Given the description of an element on the screen output the (x, y) to click on. 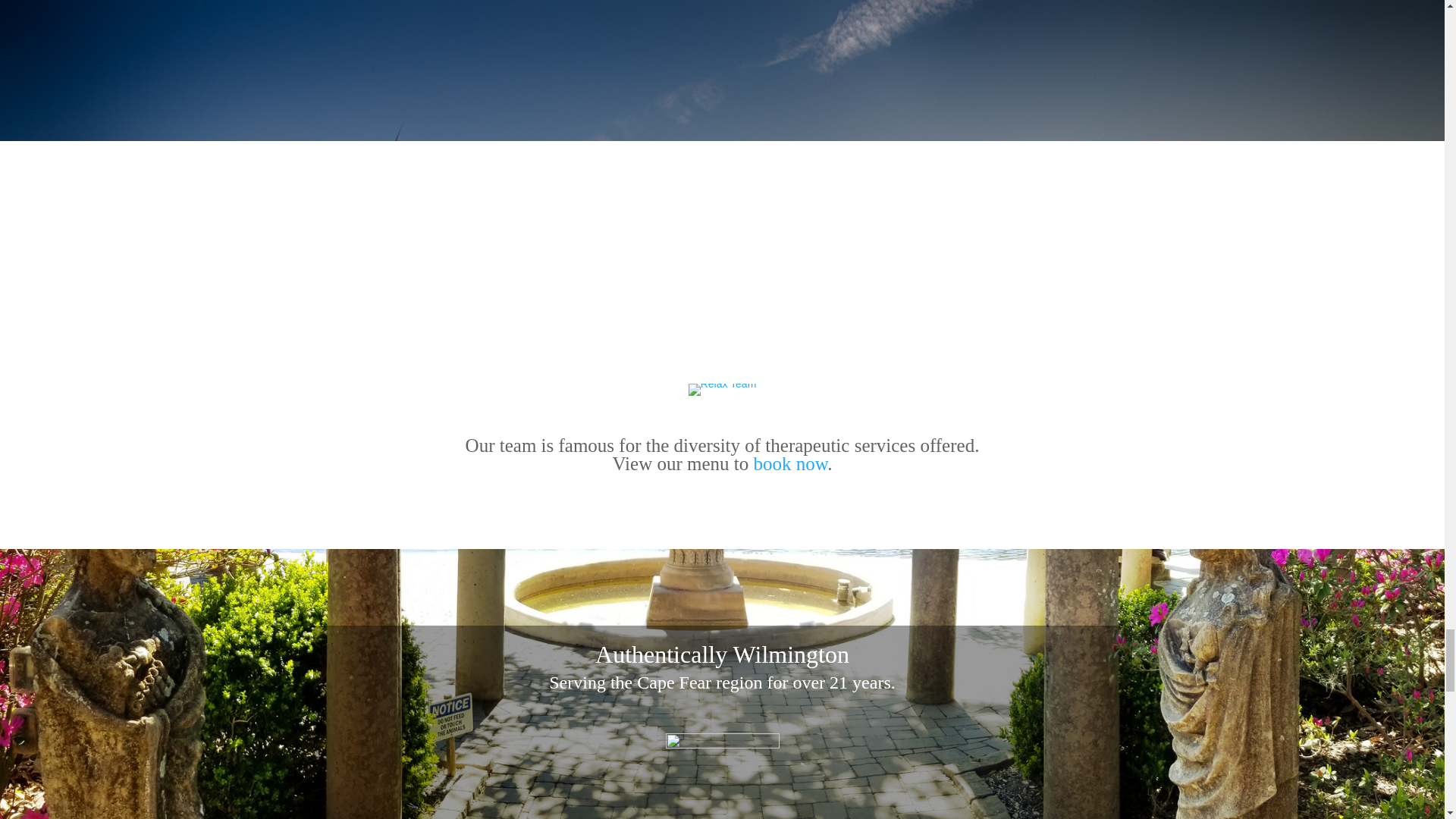
Relax Team (722, 389)
